Given the description of an element on the screen output the (x, y) to click on. 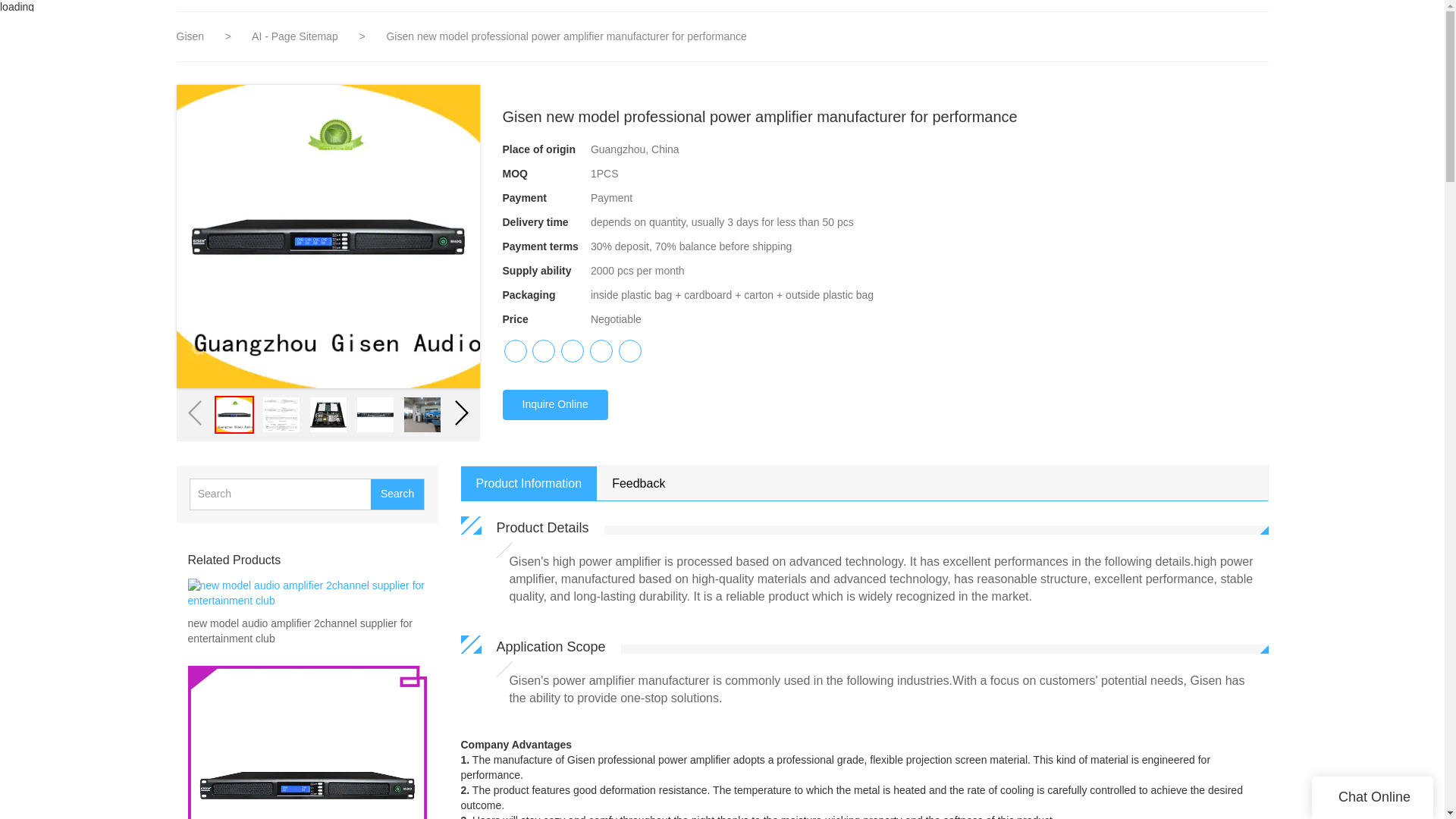
CONTACT US (1339, 30)
PRODUCTS (1061, 30)
Gisen (189, 36)
AI - Page Sitemap (295, 36)
Inquire Online (554, 404)
INFO CENTER (1158, 30)
Search (397, 494)
ABOUT US (1249, 30)
HOME (900, 30)
